Given the description of an element on the screen output the (x, y) to click on. 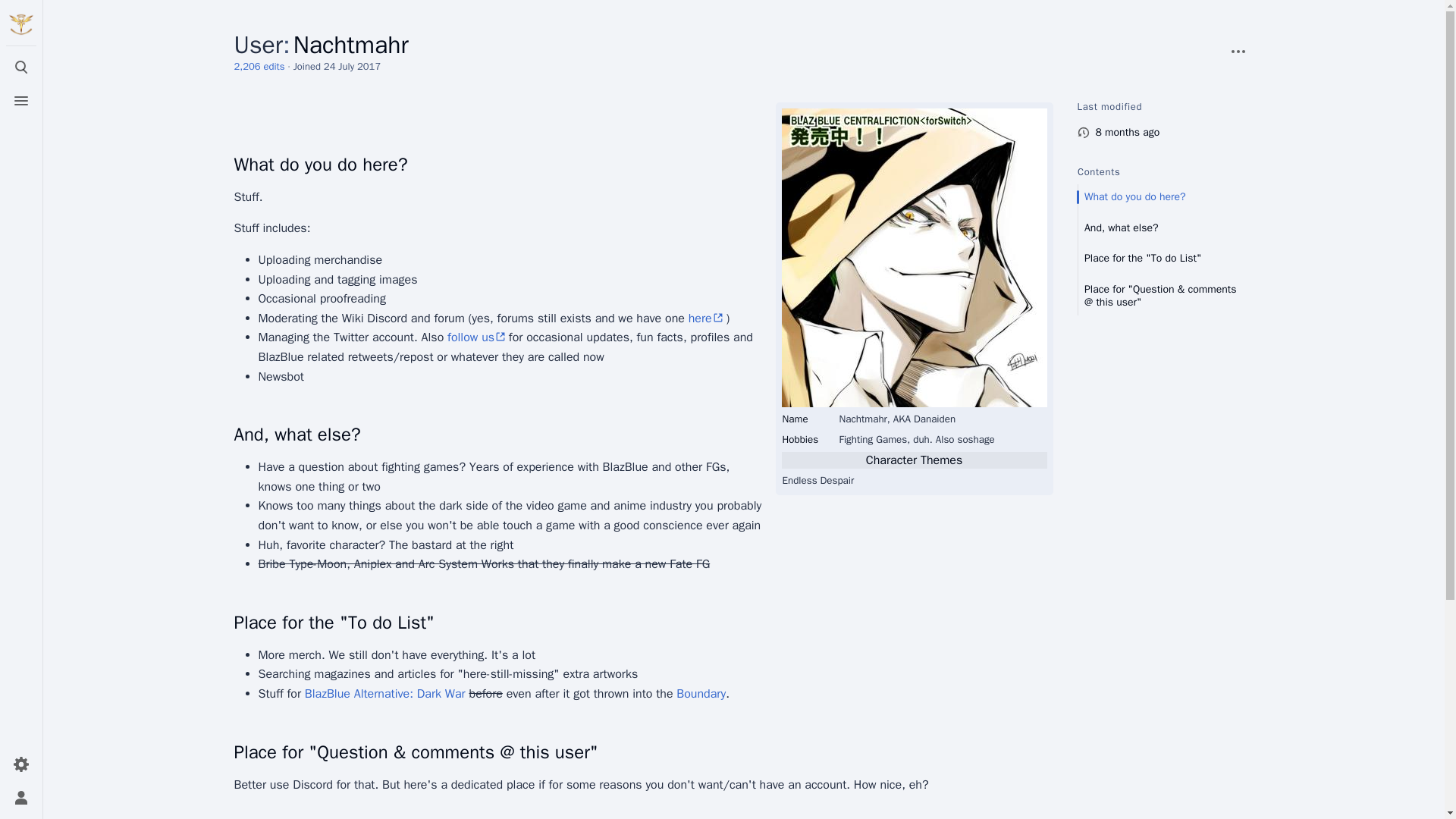
Toggle personal menu (20, 797)
Preferences (20, 764)
2,206 edits (257, 65)
Visit the main page (20, 24)
Toggle menu (20, 100)
